Given the description of an element on the screen output the (x, y) to click on. 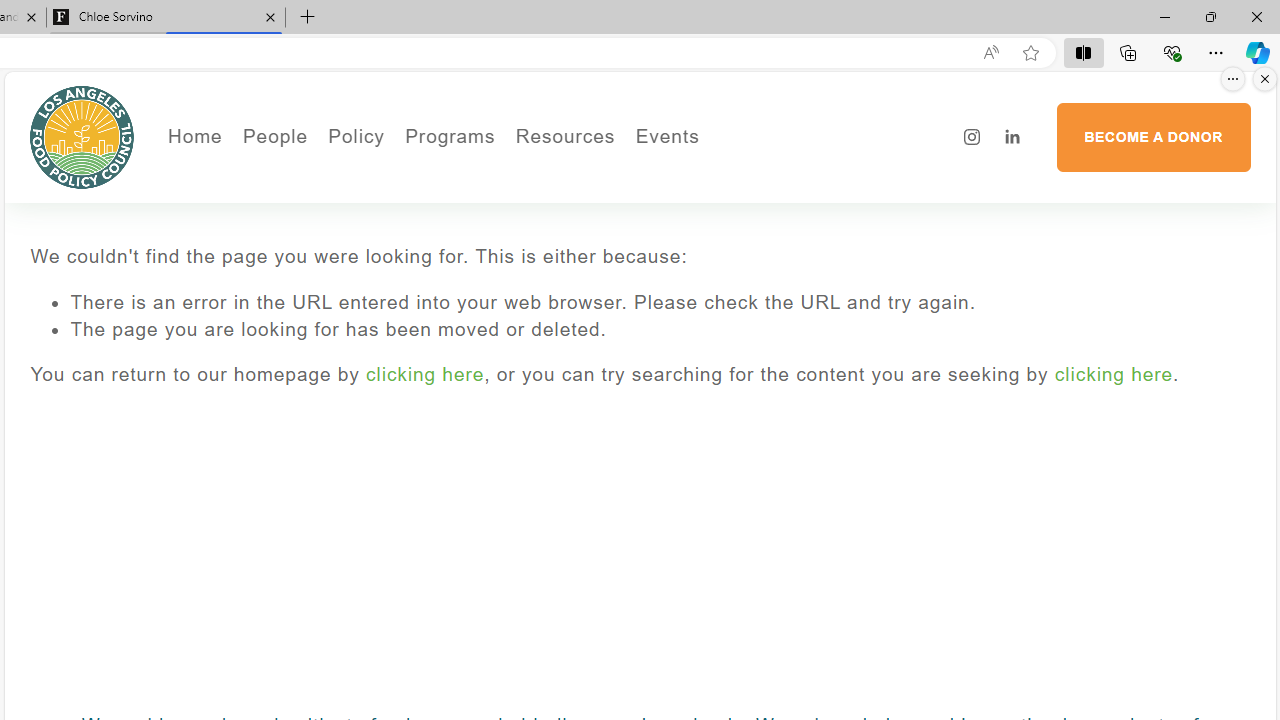
The page you are looking for has been moved or deleted. (660, 330)
Resources (564, 136)
Good Food Zones (643, 176)
People (341, 205)
Food Rescue Macro Grants (643, 232)
LA Foodscapes (734, 205)
Chloe Sorvino (166, 17)
BECOME A DONOR (1153, 137)
Programs (450, 136)
